Given the description of an element on the screen output the (x, y) to click on. 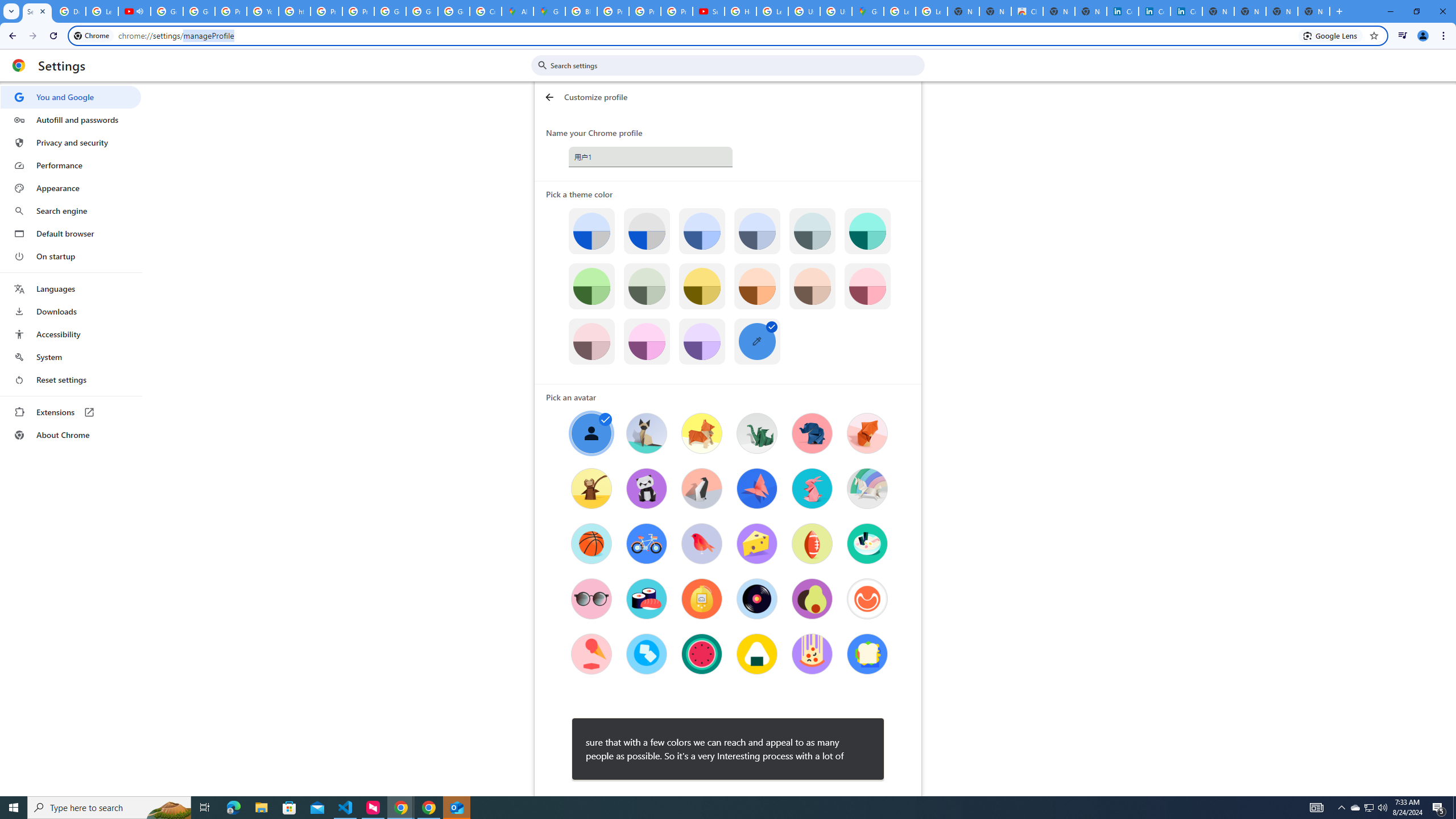
Default browser (70, 233)
New Tab (1313, 11)
Privacy Help Center - Policies Help (230, 11)
Search engine (70, 210)
Search with Google Lens (1330, 35)
Google Account Help (166, 11)
About Chrome (70, 434)
Chrome Web Store (1027, 11)
Google Maps (868, 11)
Cookie Policy | LinkedIn (1154, 11)
Create your Google Account (485, 11)
